Given the description of an element on the screen output the (x, y) to click on. 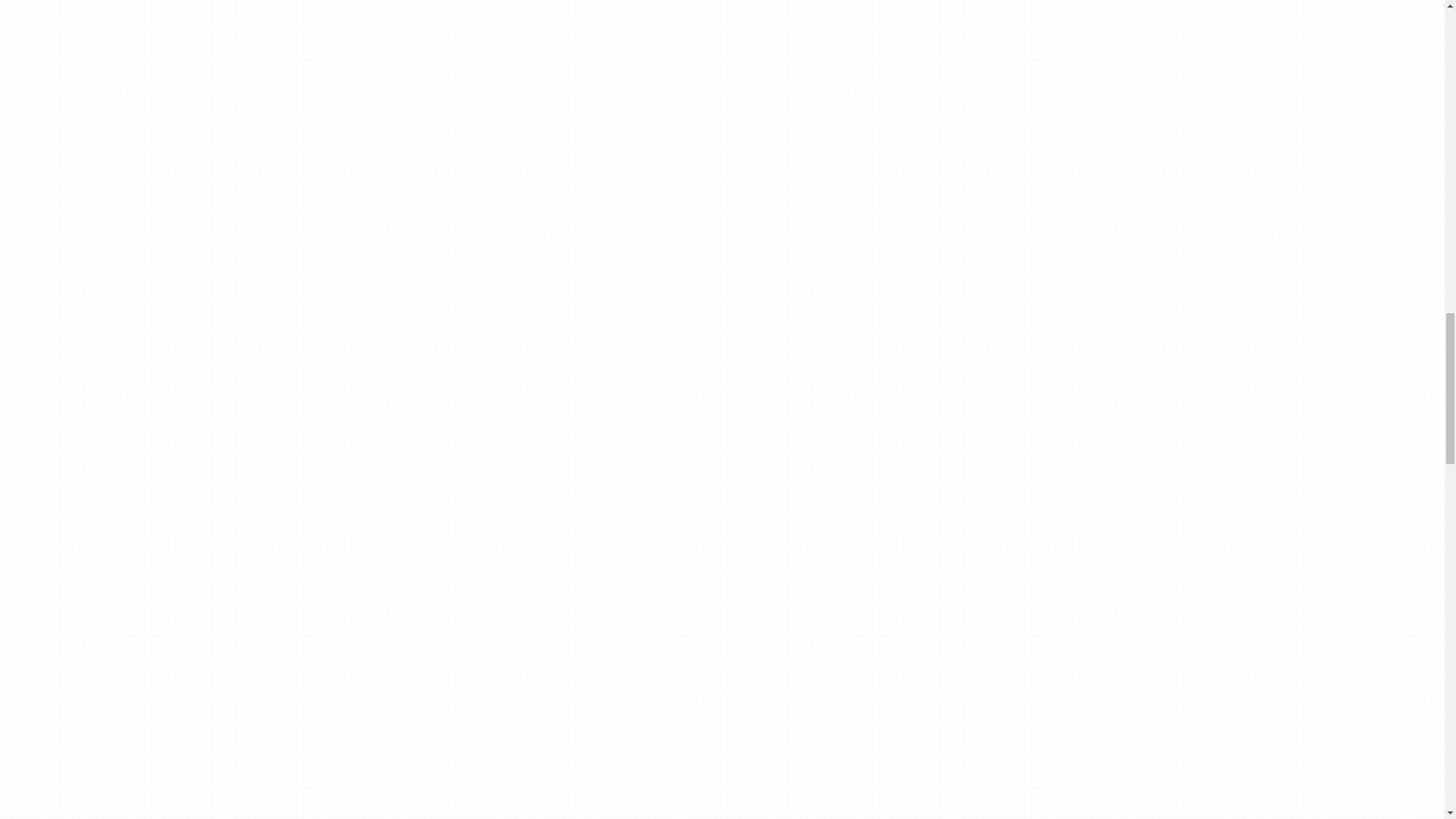
Sentiv (274, 460)
Ethex web app redesign (320, 252)
Ethex (267, 6)
Designing the Ethex mobile app (351, 280)
